Given the description of an element on the screen output the (x, y) to click on. 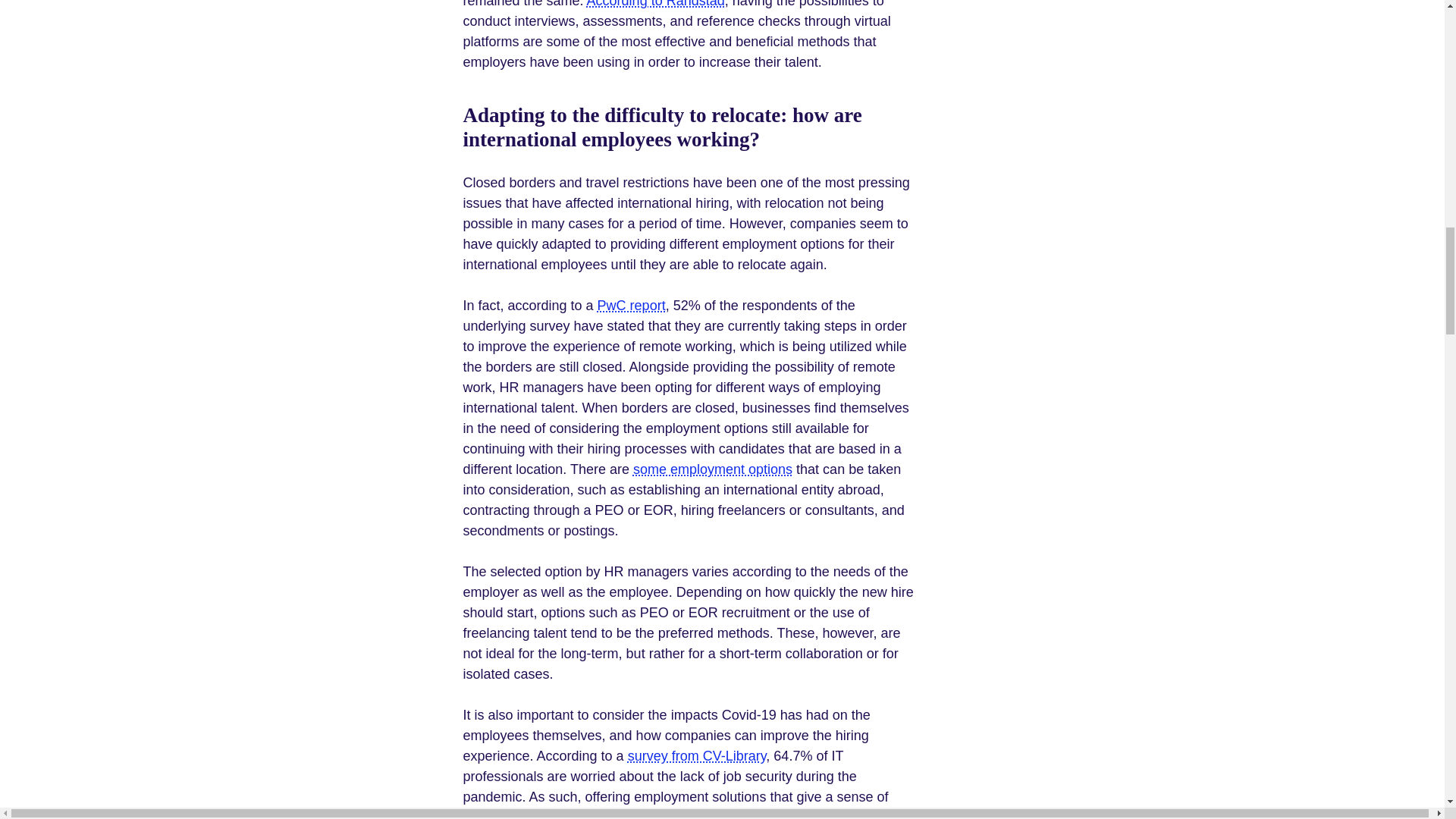
some employment options (712, 468)
survey from CV-Library (697, 755)
PwC report (630, 305)
According to Randstad (655, 4)
